Given the description of an element on the screen output the (x, y) to click on. 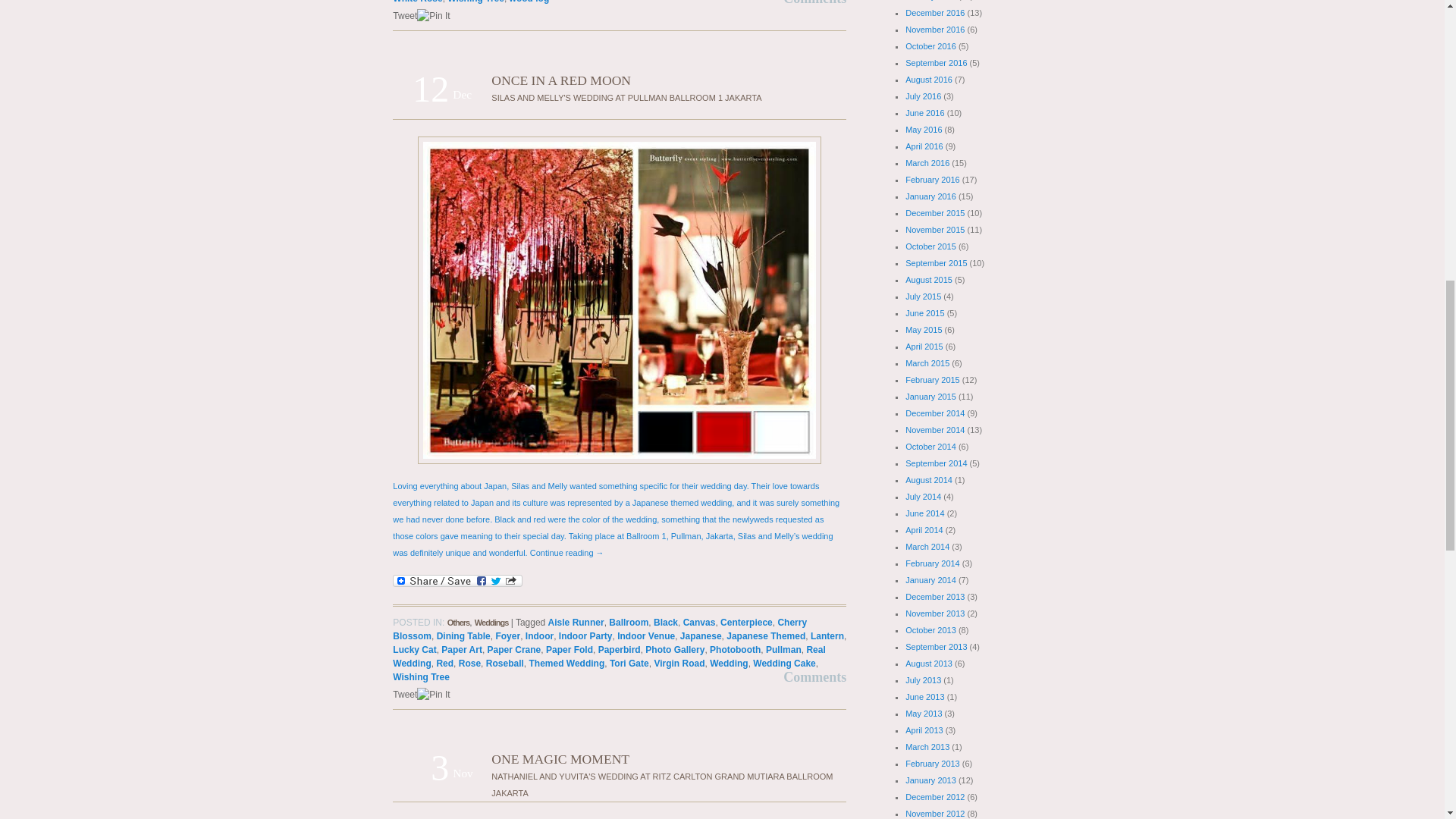
SM (619, 300)
Pin It (432, 694)
Permalink to One Magic Moment (560, 758)
Permalink to Once in A Red Moon (561, 79)
Pin It (432, 15)
